Given the description of an element on the screen output the (x, y) to click on. 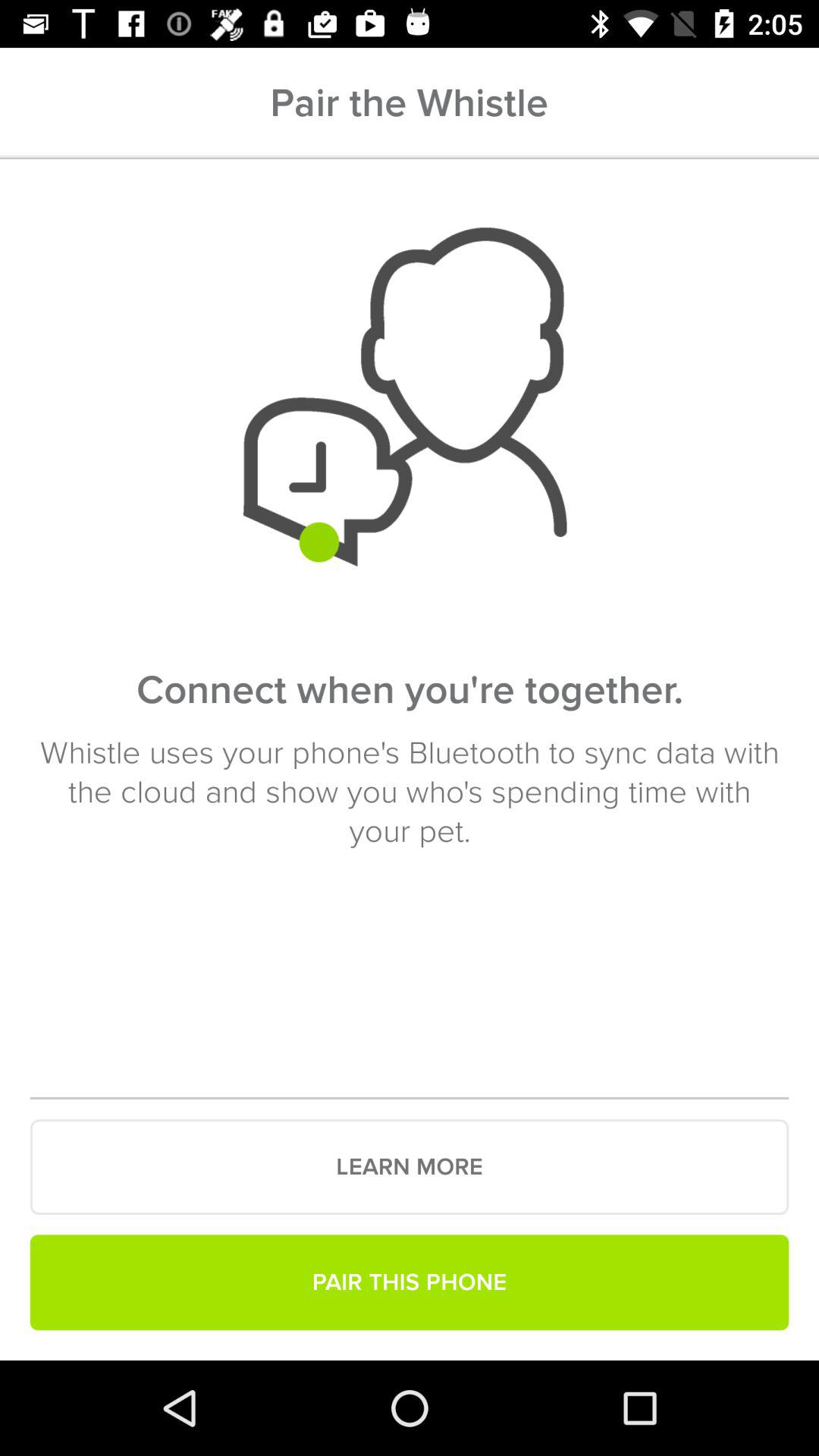
launch the item below learn more icon (409, 1282)
